Given the description of an element on the screen output the (x, y) to click on. 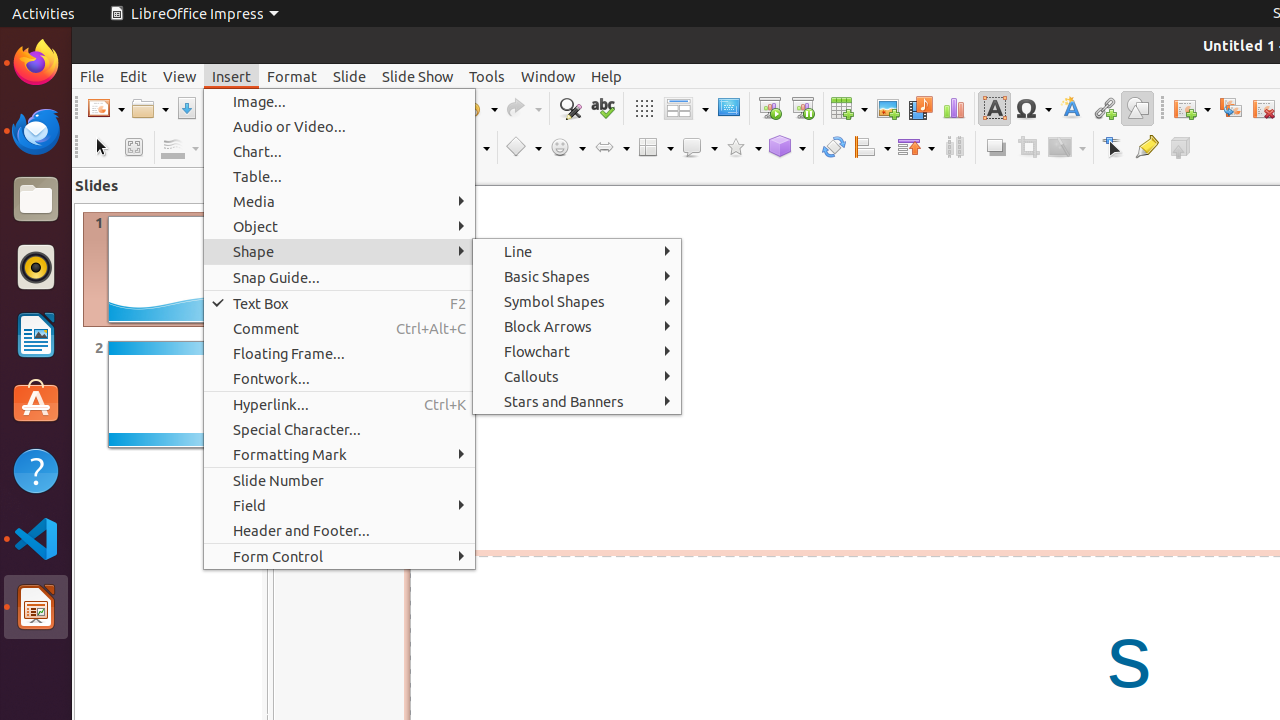
Media Element type: menu (339, 201)
Line Element type: menu (577, 251)
Callouts Element type: menu (577, 376)
Audio or Video... Element type: menu-item (339, 126)
